Given the description of an element on the screen output the (x, y) to click on. 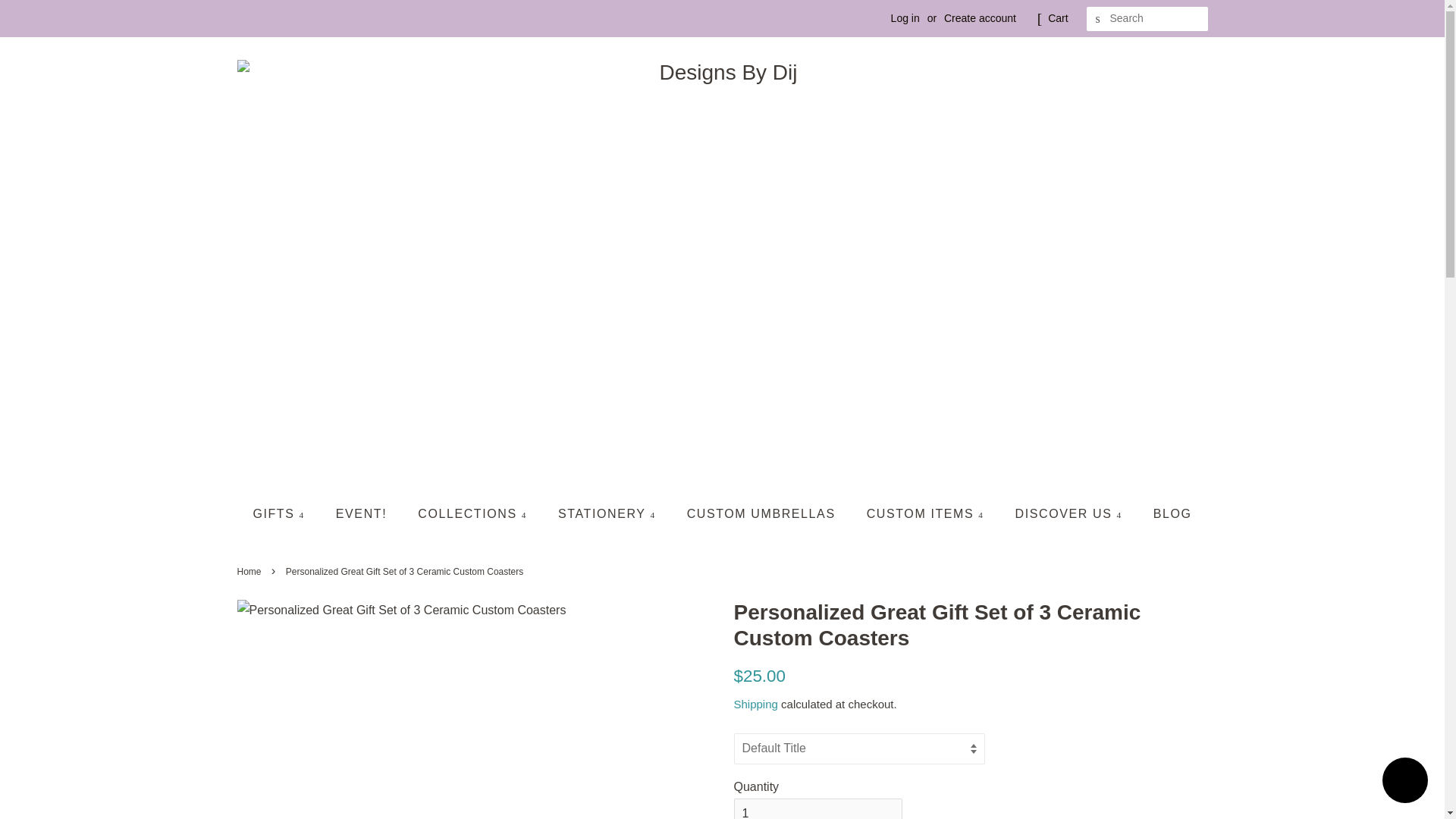
Cart (1057, 18)
Shopify online store chat (1404, 781)
SEARCH (1097, 18)
1 (817, 808)
Log in (905, 18)
Create account (979, 18)
Back to the frontpage (249, 571)
